Given the description of an element on the screen output the (x, y) to click on. 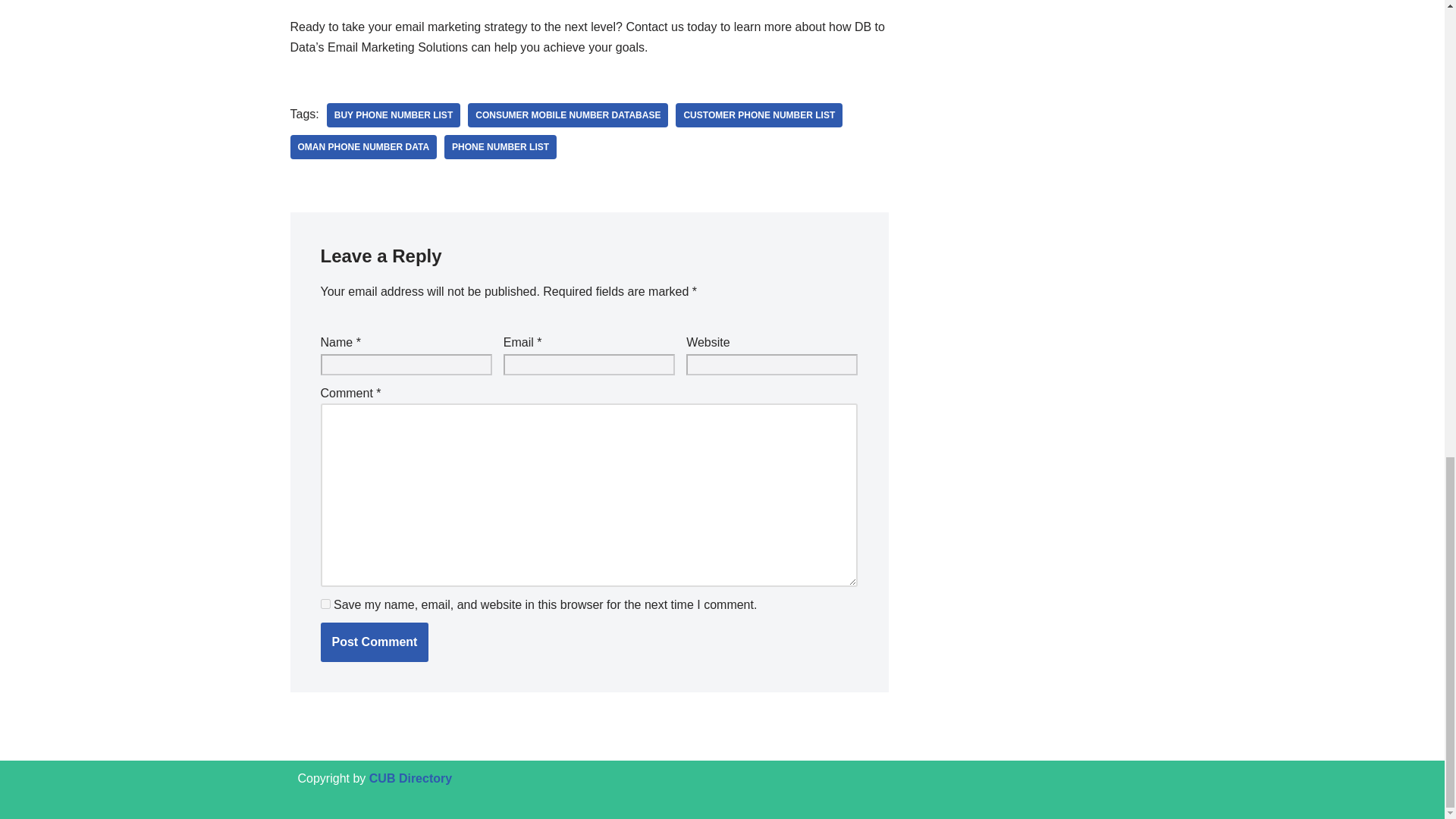
Post Comment (374, 641)
OMAN PHONE NUMBER DATA (362, 146)
Customer Phone Number List (759, 115)
Post Comment (374, 641)
CUSTOMER PHONE NUMBER LIST (759, 115)
BUY PHONE NUMBER LIST (393, 115)
CUB Directory (410, 778)
yes (325, 603)
Oman Phone Number Data (362, 146)
Consumer Mobile number Database (567, 115)
buy phone number list (393, 115)
PHONE NUMBER LIST (500, 146)
Phone Number List (500, 146)
CONSUMER MOBILE NUMBER DATABASE (567, 115)
